Given the description of an element on the screen output the (x, y) to click on. 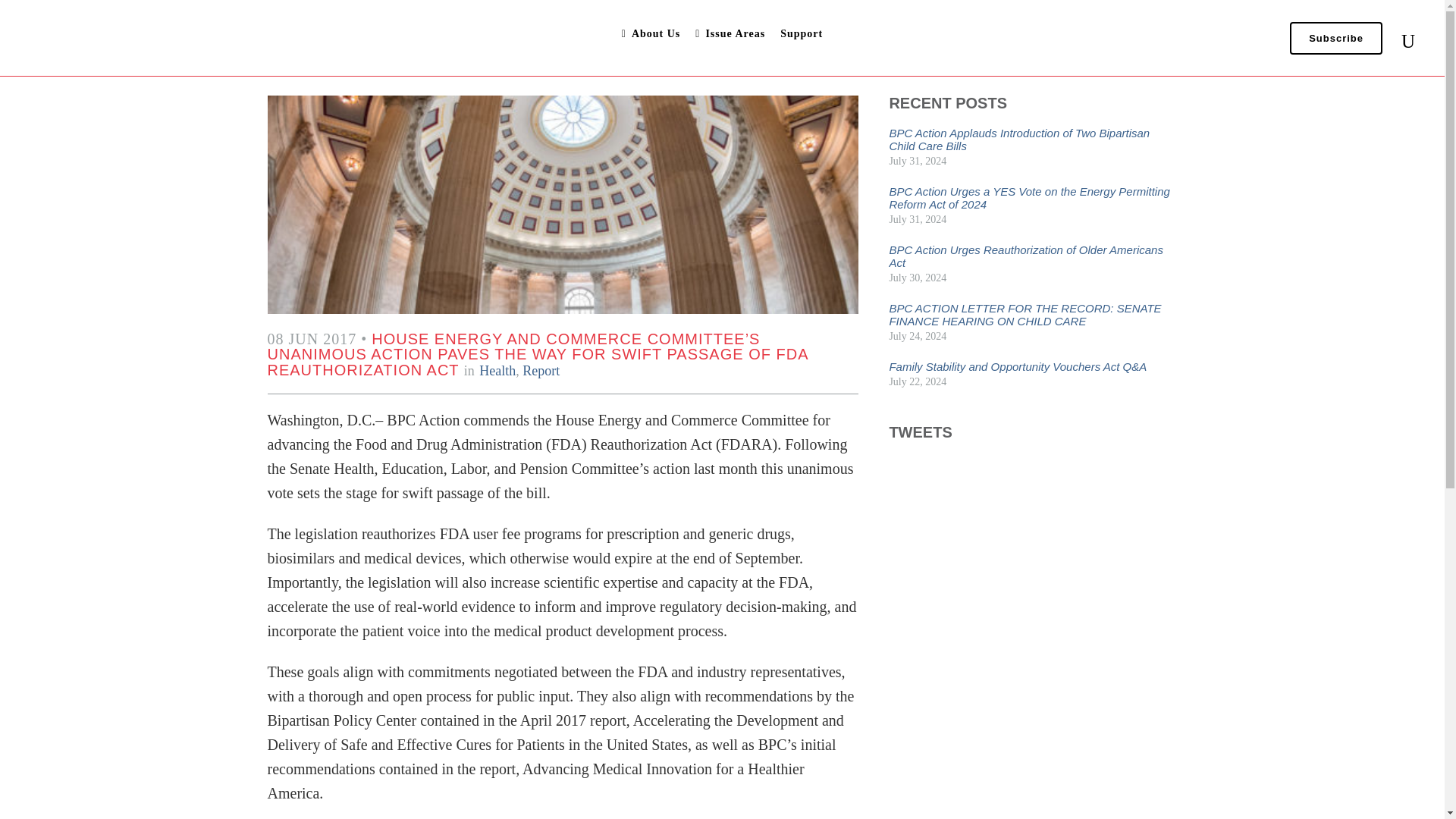
Health (497, 370)
Support (801, 33)
About Us (651, 33)
Issue Areas (730, 33)
Subscribe (1335, 37)
